Given the description of an element on the screen output the (x, y) to click on. 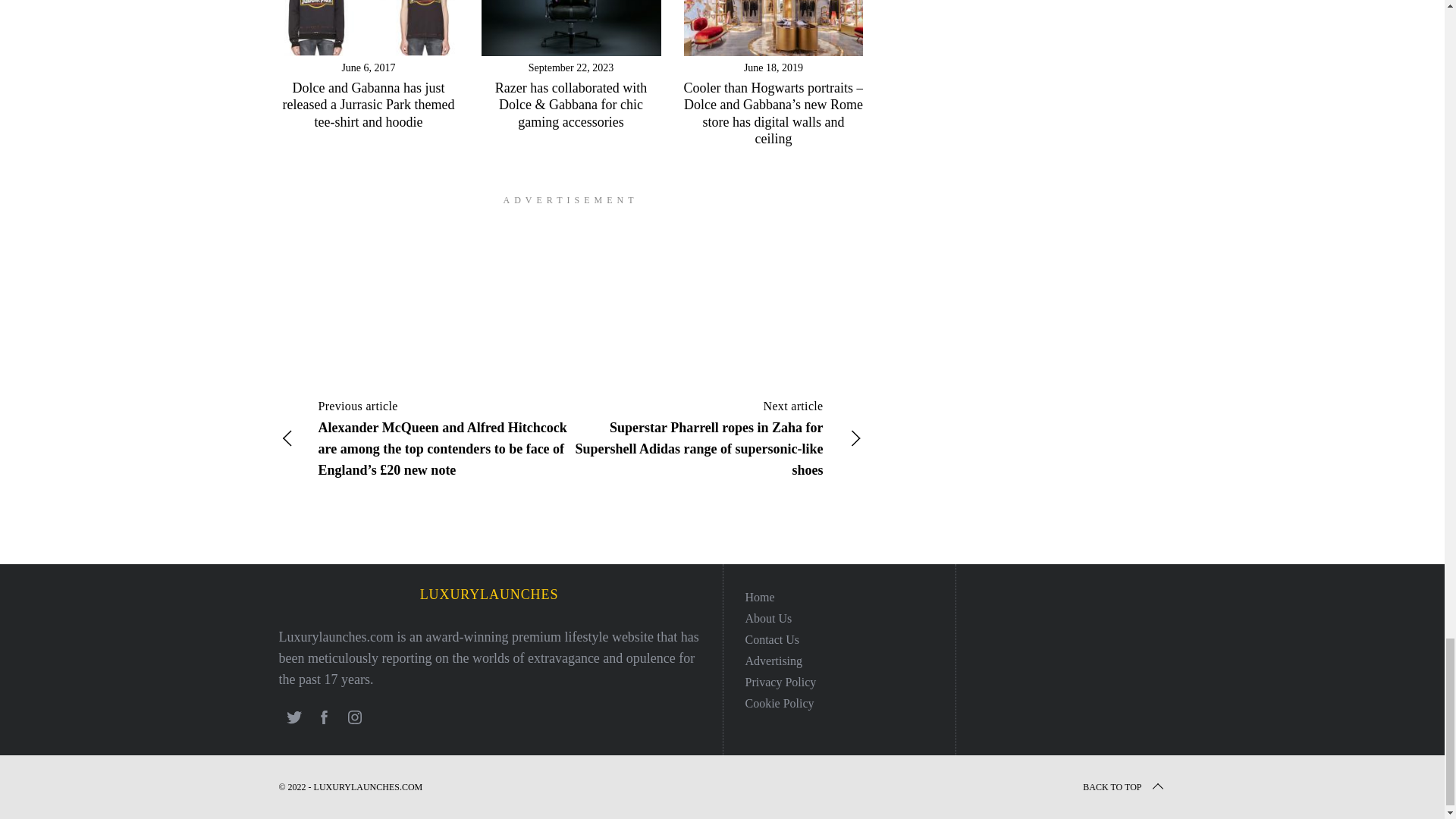
Privacy Policy (779, 681)
Advertising (773, 660)
Cookie Policy (778, 703)
Home (759, 596)
Contact us (771, 639)
About Us (768, 617)
